Given the description of an element on the screen output the (x, y) to click on. 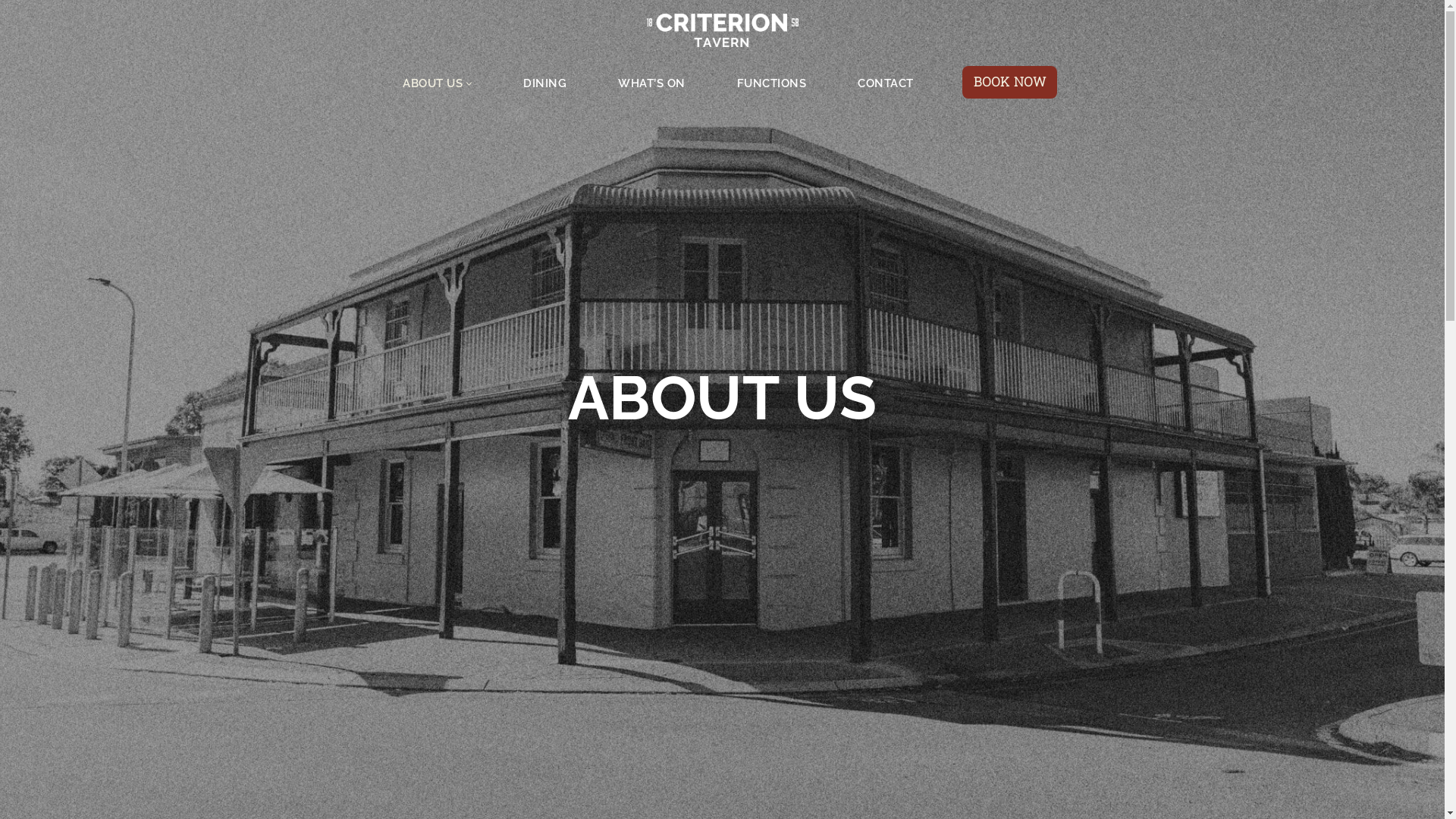
ABOUT US Element type: text (432, 83)
Skip to content Element type: text (11, 31)
CONTACT Element type: text (885, 83)
FUNCTIONS Element type: text (771, 83)
DINING Element type: text (544, 83)
BOOK NOW Element type: text (1009, 81)
